Given the description of an element on the screen output the (x, y) to click on. 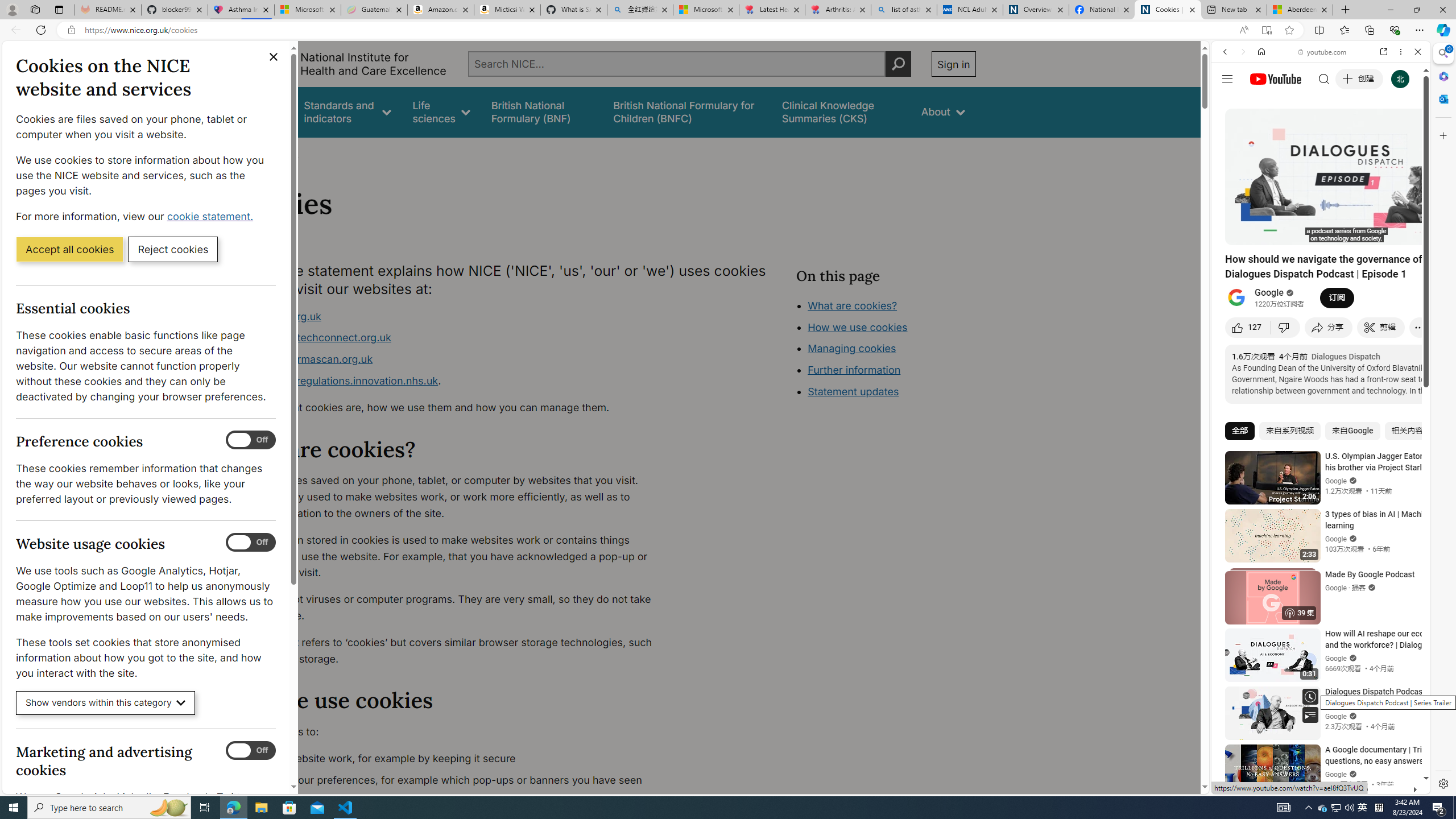
US[ju] (1249, 785)
What are cookies? (852, 305)
Managing cookies (852, 348)
